Given the description of an element on the screen output the (x, y) to click on. 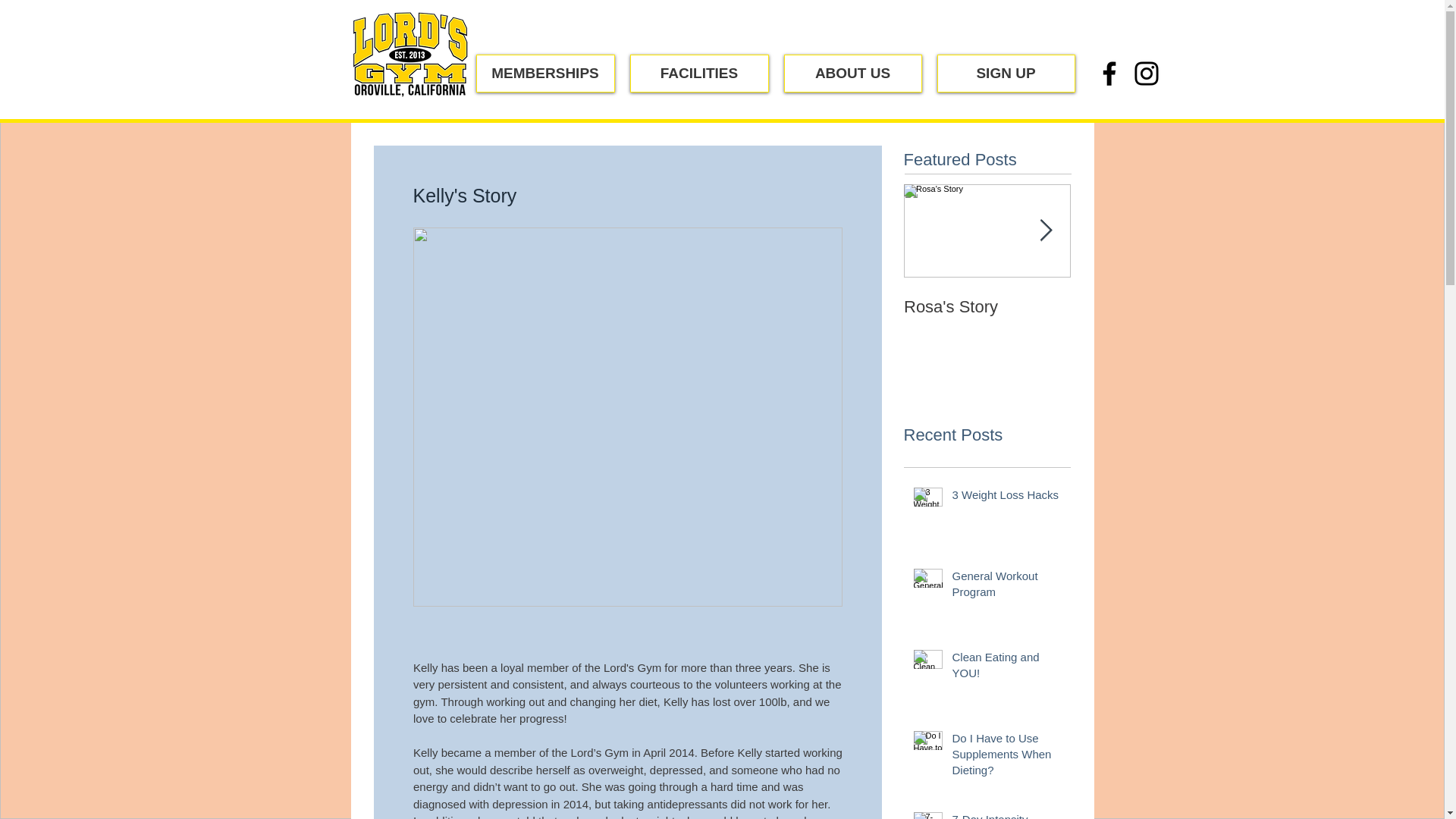
MEMBERSHIPS (545, 73)
General Workout Program (1006, 587)
3 Weight Loss Hacks (1006, 497)
LG logo clear.png (409, 56)
Do I Have to Use Supplements When Dieting? (1006, 756)
SIGN UP (1006, 73)
7-Day Intensity Training Plan (1006, 815)
Rosa's Story (987, 306)
Sugih's Story (1153, 306)
Clean Eating and YOU! (1006, 668)
